Given the description of an element on the screen output the (x, y) to click on. 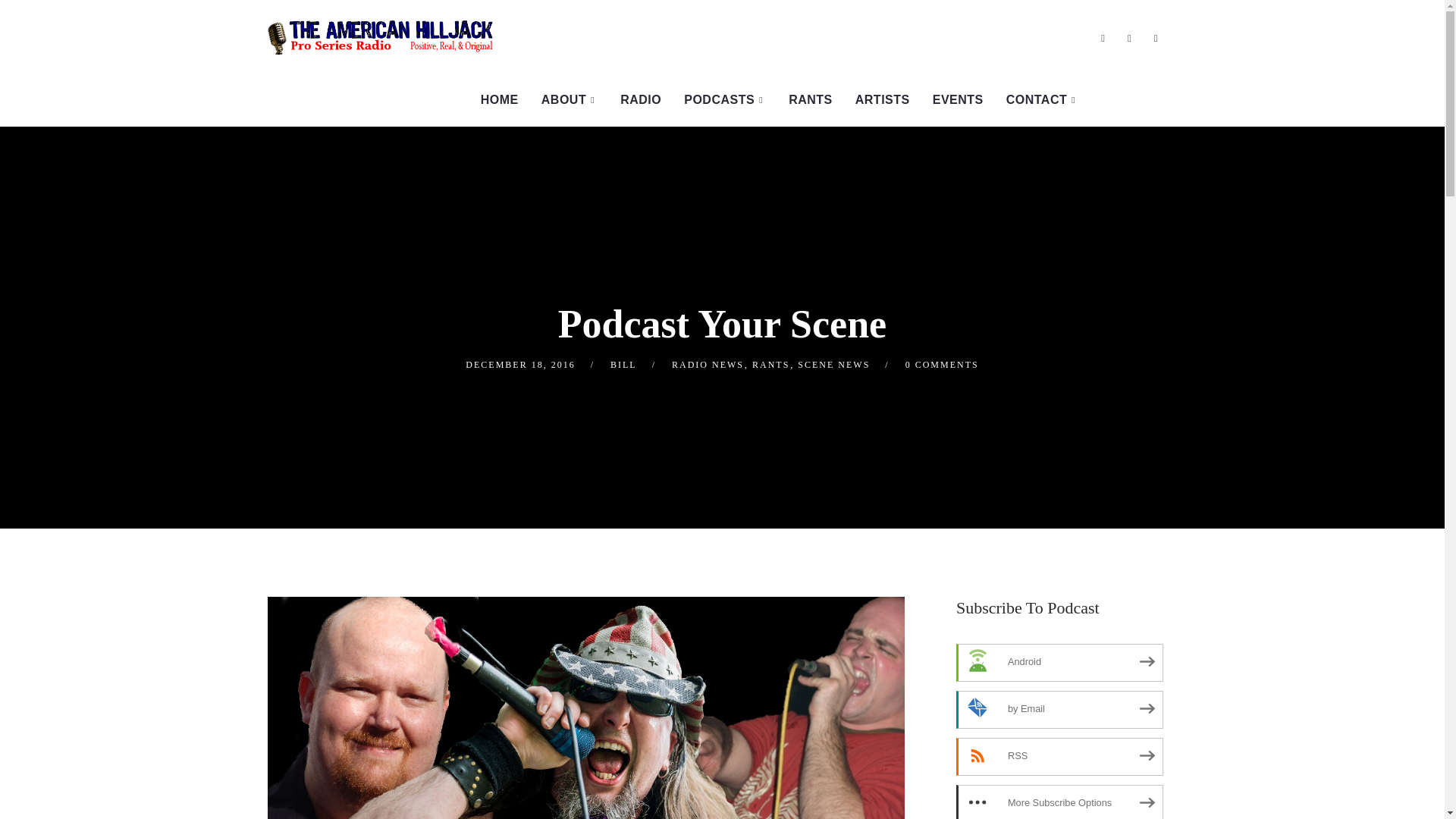
HOME (498, 99)
Subscribe by Email (1059, 709)
CONTACT (1042, 99)
ABOUT (568, 99)
Subscribe via RSS (1059, 756)
The American Hilljack Pro Series Radio (380, 36)
Subscribe on Android (1059, 662)
ARTISTS (882, 99)
RADIO (640, 99)
More Subscribe Options (1059, 801)
RANTS (810, 99)
PODCASTS (724, 99)
EVENTS (957, 99)
